Given the description of an element on the screen output the (x, y) to click on. 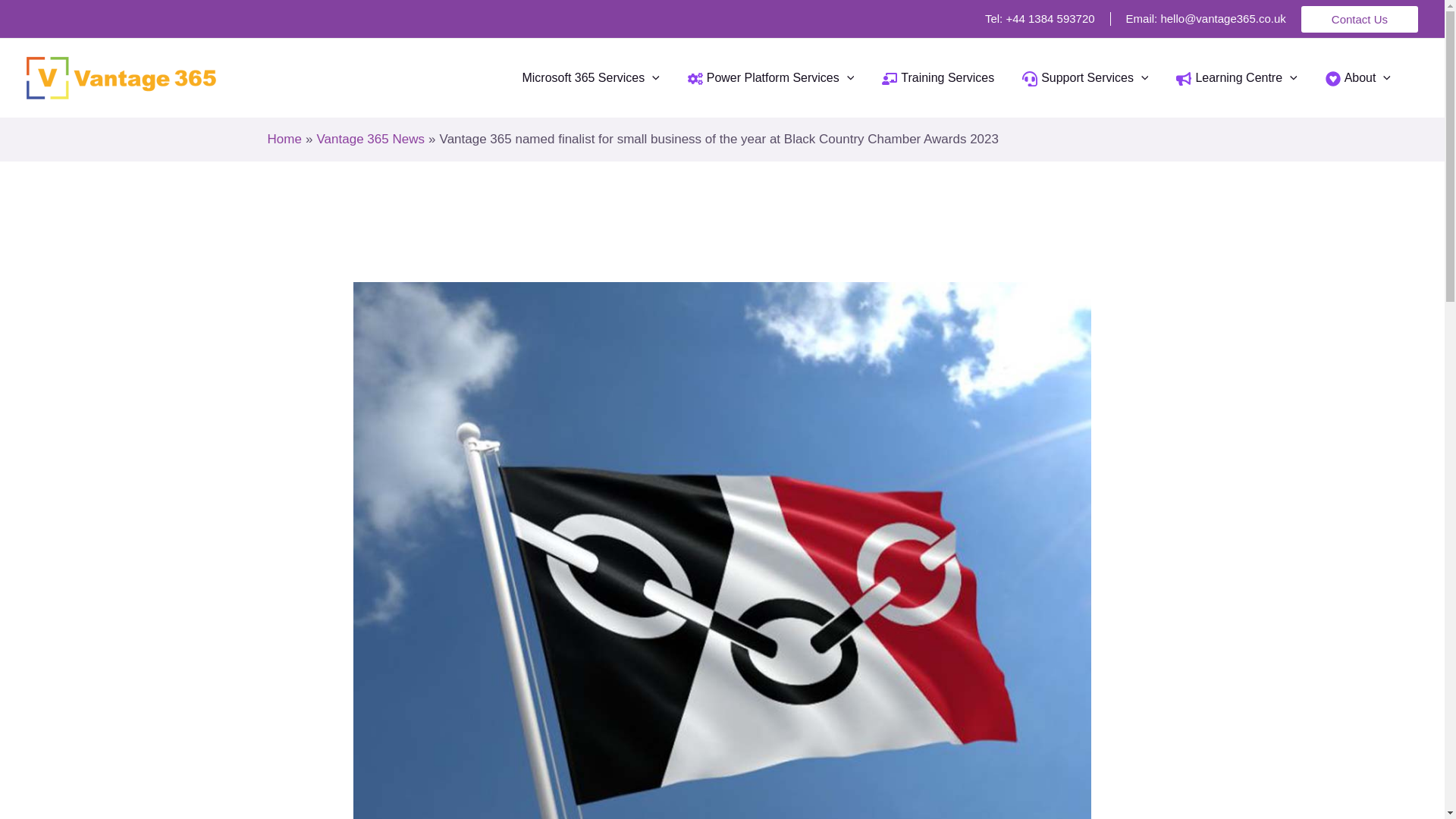
Support Services (1083, 77)
Power Platform Services (768, 77)
Training Services (936, 77)
Learning Centre (1234, 77)
About (1355, 77)
Microsoft 365 Services (590, 77)
Contact Us (1359, 18)
